Given the description of an element on the screen output the (x, y) to click on. 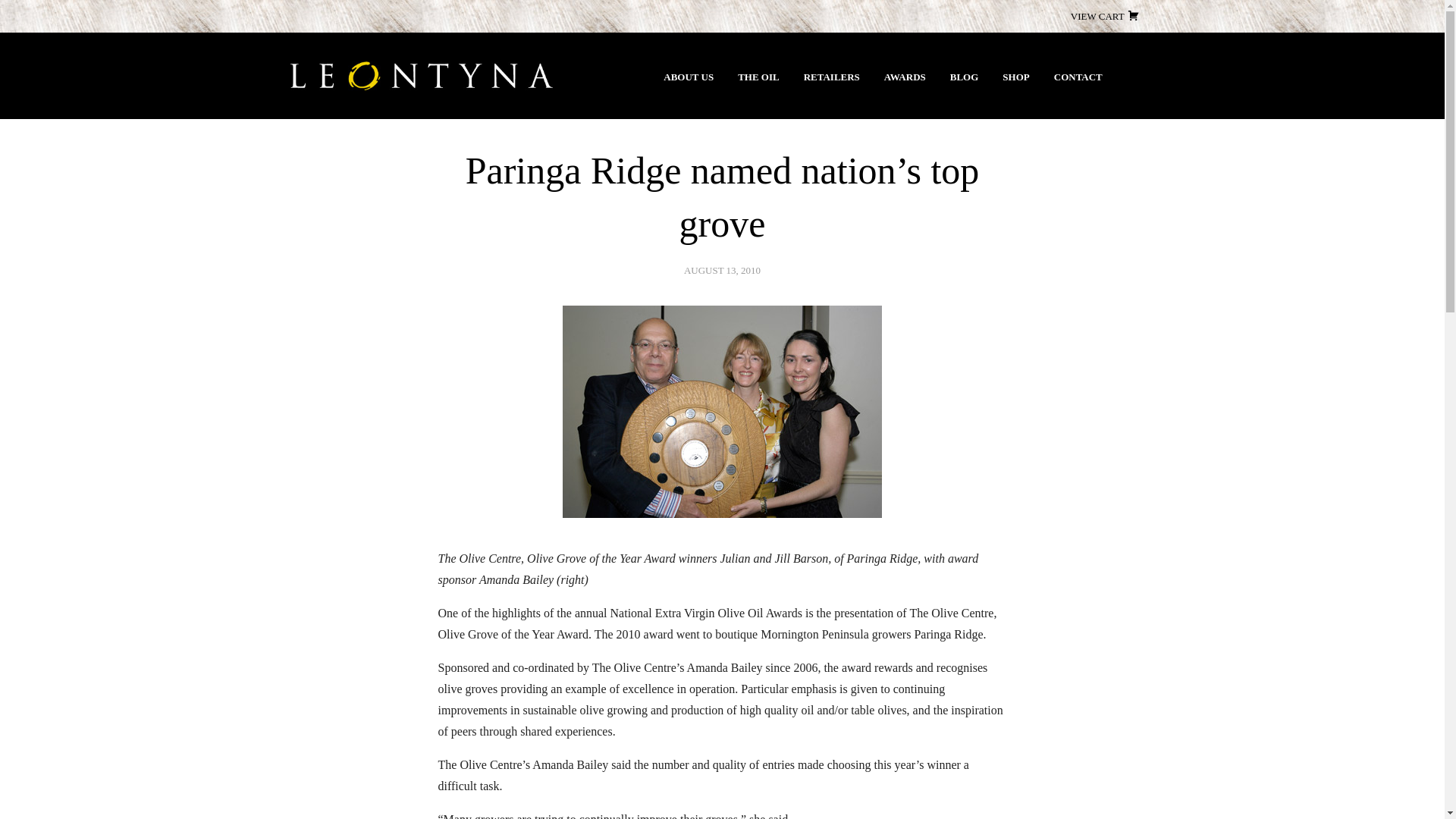
RETAILERS Element type: text (831, 76)
BLOG Element type: text (964, 76)
VIEW CART Element type: text (1105, 16)
ABOUT US Element type: text (688, 76)
CONTACT Element type: text (1077, 76)
Search Element type: text (40, 19)
SHOP Element type: text (1015, 76)
AWARDS Element type: text (905, 76)
THE OIL Element type: text (758, 76)
AUGUST 13, 2010 Element type: text (722, 270)
